Given the description of an element on the screen output the (x, y) to click on. 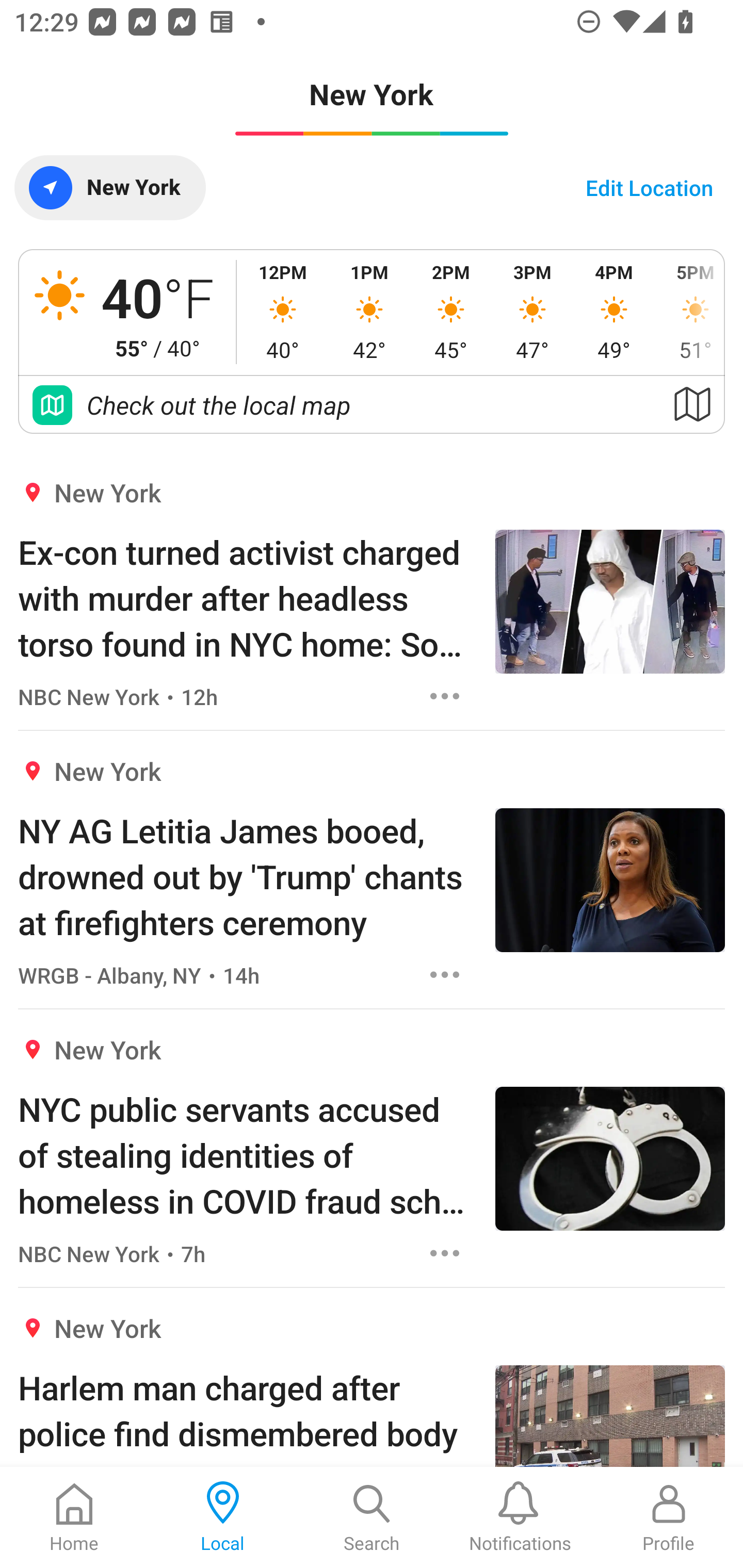
New York (109, 187)
Edit Location (648, 187)
12PM 40° (282, 311)
1PM 42° (369, 311)
2PM 45° (450, 311)
3PM 47° (532, 311)
4PM 49° (613, 311)
5PM 51° (689, 311)
Check out the local map (371, 405)
Options (444, 696)
Options (444, 975)
Options (444, 1253)
Home (74, 1517)
Search (371, 1517)
Notifications (519, 1517)
Profile (668, 1517)
